Given the description of an element on the screen output the (x, y) to click on. 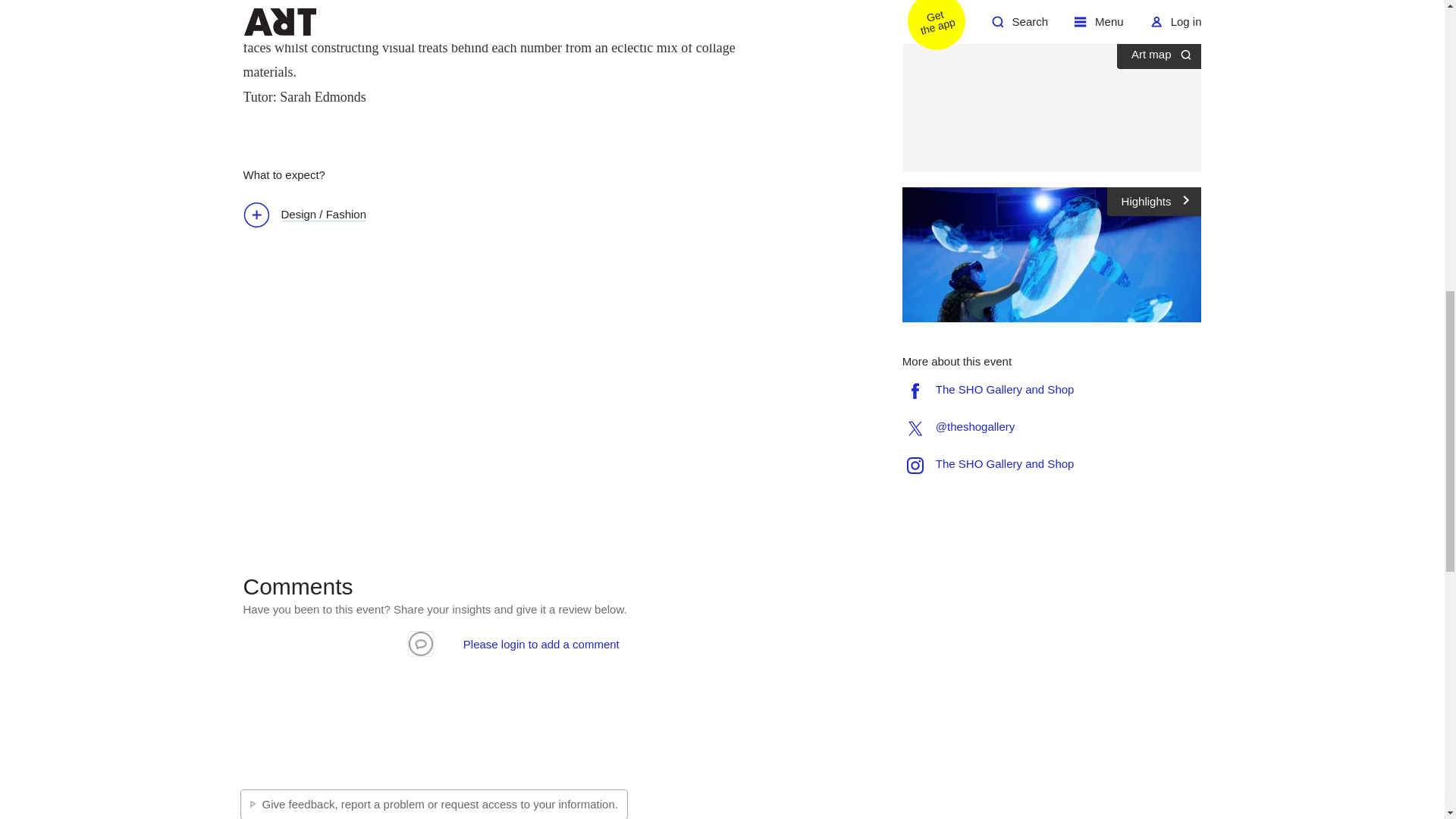
what's popular (1111, 15)
11 current events (998, 1)
opening soon (1015, 15)
